Given the description of an element on the screen output the (x, y) to click on. 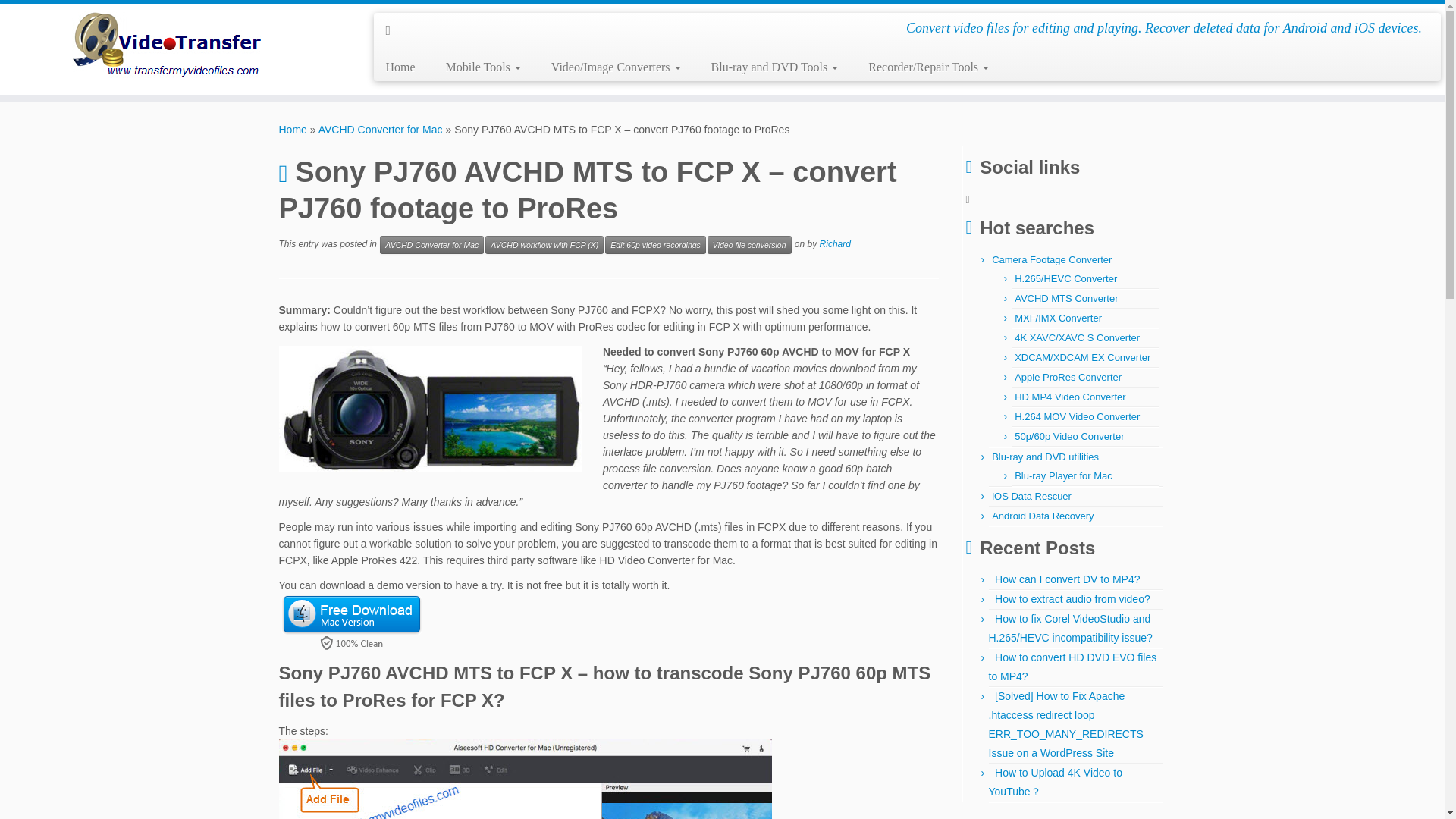
Follow us on Rss (392, 29)
Mobile Tools (482, 67)
View all posts in Video file conversion (749, 244)
Home (293, 129)
AVCHD Converter for Mac (380, 129)
Blu-ray and DVD Tools (774, 67)
View all posts in Edit 60p video recordings (655, 244)
Edit 60p video recordings (655, 244)
Home (405, 67)
AVCHD Converter for Mac (431, 244)
